Given the description of an element on the screen output the (x, y) to click on. 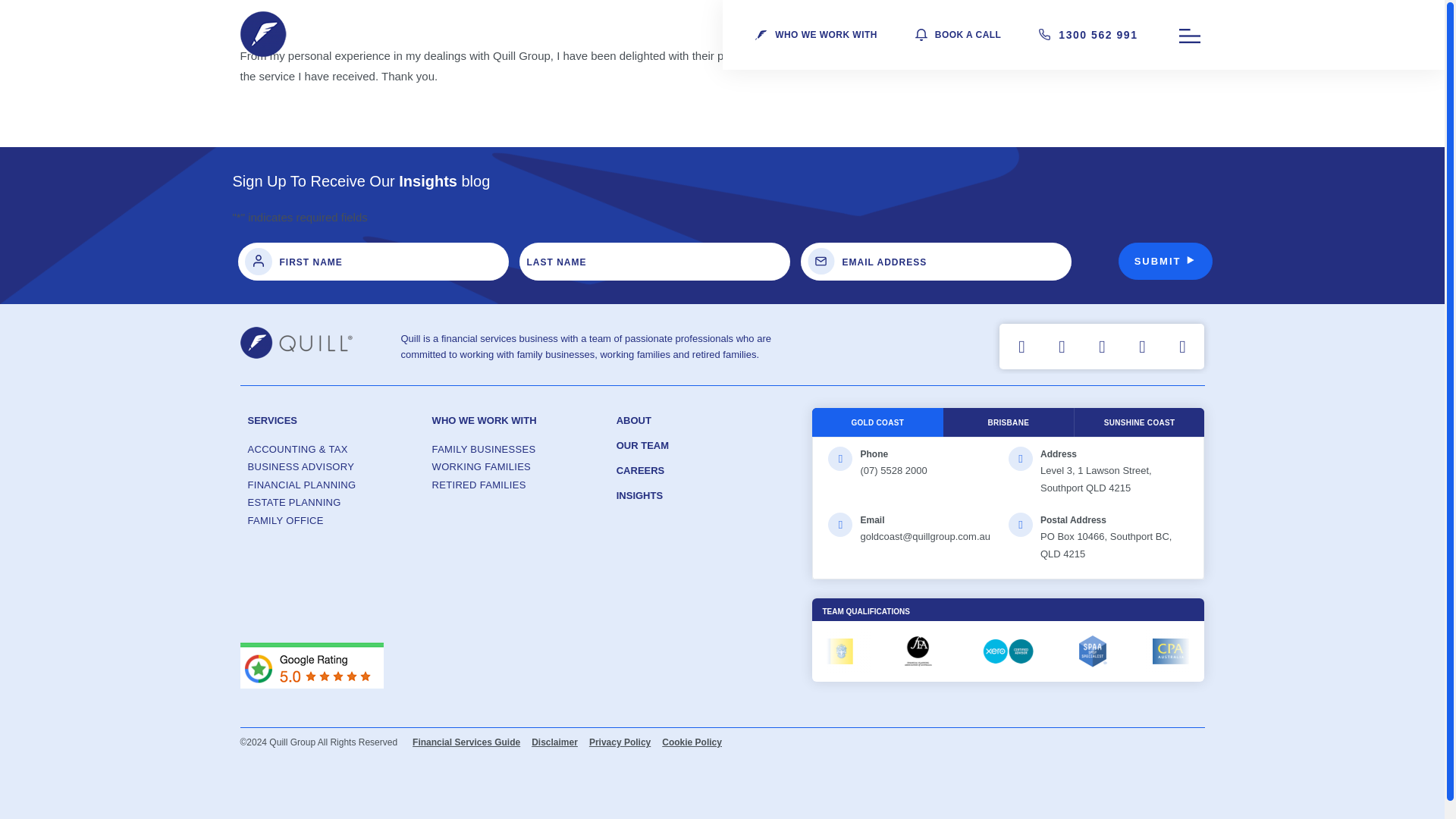
1300 562 991 (1097, 34)
WHO WE WORK WITH (484, 419)
RETIRED FAMILIES (516, 484)
INSIGHTS (638, 495)
WHO WE WORK WITH (825, 34)
Menu (1189, 36)
SERVICES (272, 421)
ESTATE PLANNING (331, 502)
Submit (1165, 261)
FINANCIAL PLANNING (331, 485)
ABOUT (632, 419)
Level 3, 1 Lawson Street, Southport QLD 4215 (1096, 479)
FAMILY BUSINESSES (516, 448)
FAMILY OFFICE (331, 520)
BOOK A CALL (967, 34)
